Given the description of an element on the screen output the (x, y) to click on. 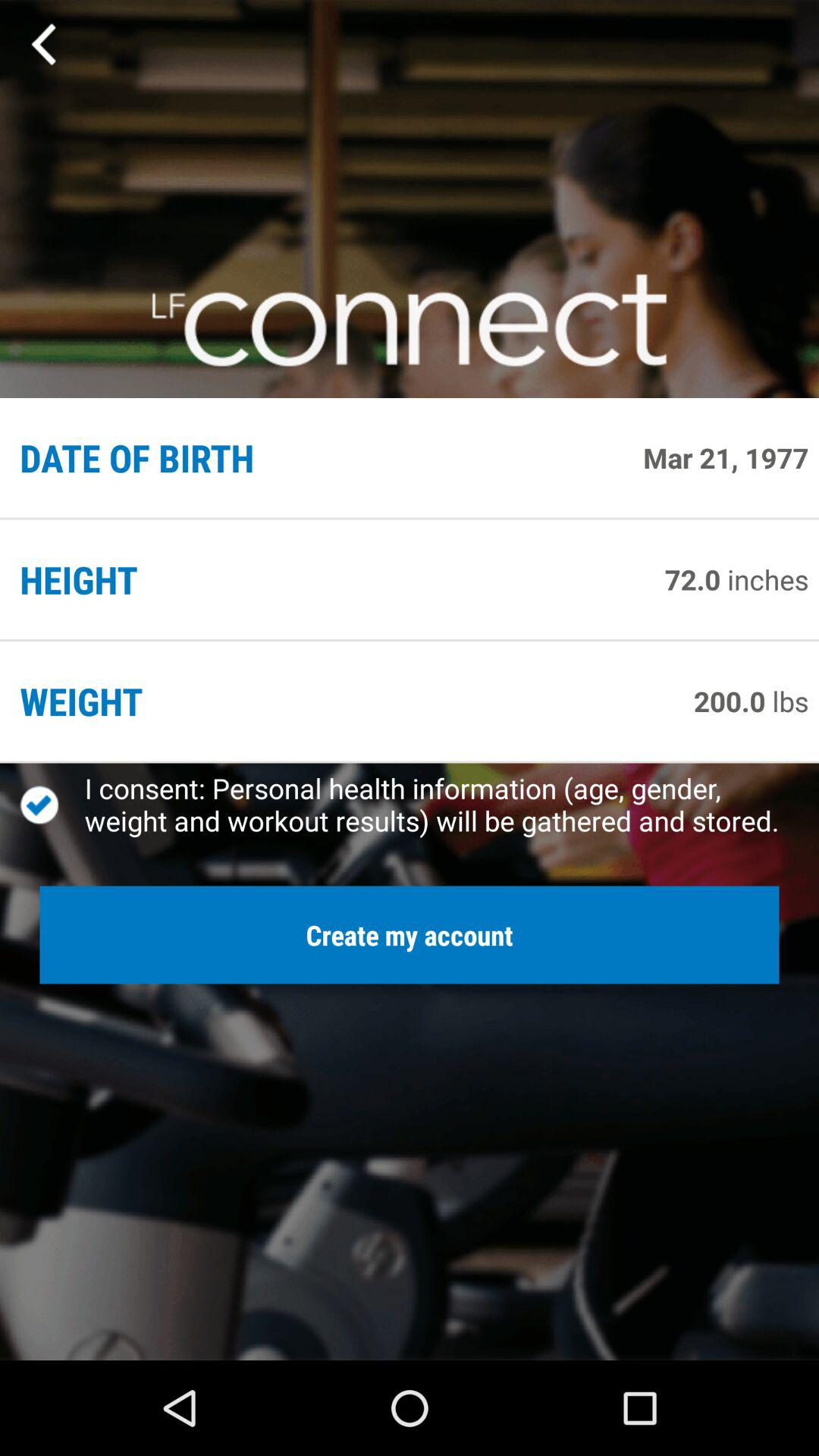
open the create my account item (409, 934)
